Given the description of an element on the screen output the (x, y) to click on. 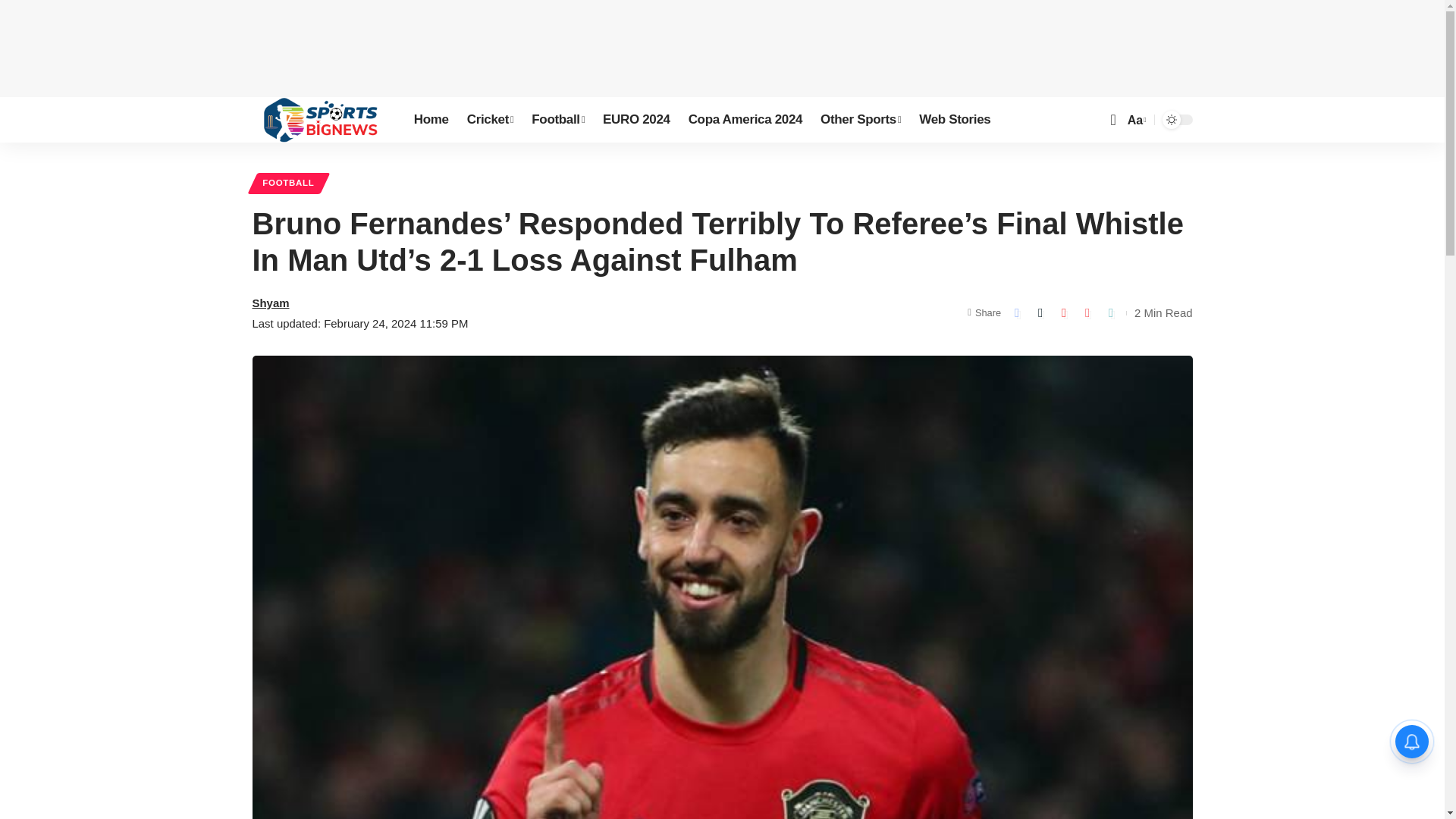
Aa (1135, 119)
Football (558, 119)
Other Sports (860, 119)
Web Stories (954, 119)
EURO 2024 (636, 119)
Cricket (490, 119)
Advertisement (722, 45)
Copa America 2024 (744, 119)
Home (431, 119)
SportsBigNews (319, 119)
